Given the description of an element on the screen output the (x, y) to click on. 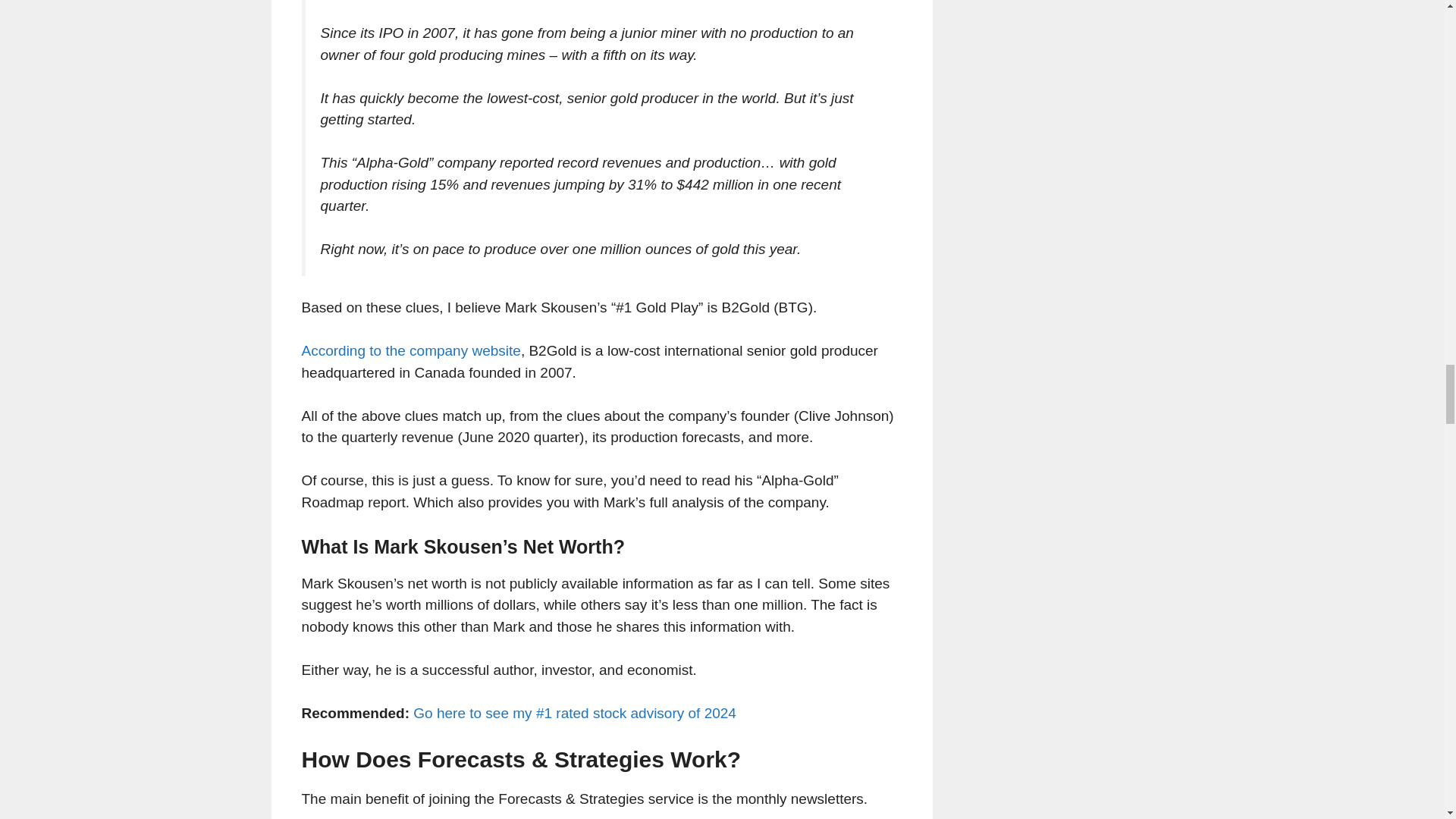
According to the company website (411, 350)
